Given the description of an element on the screen output the (x, y) to click on. 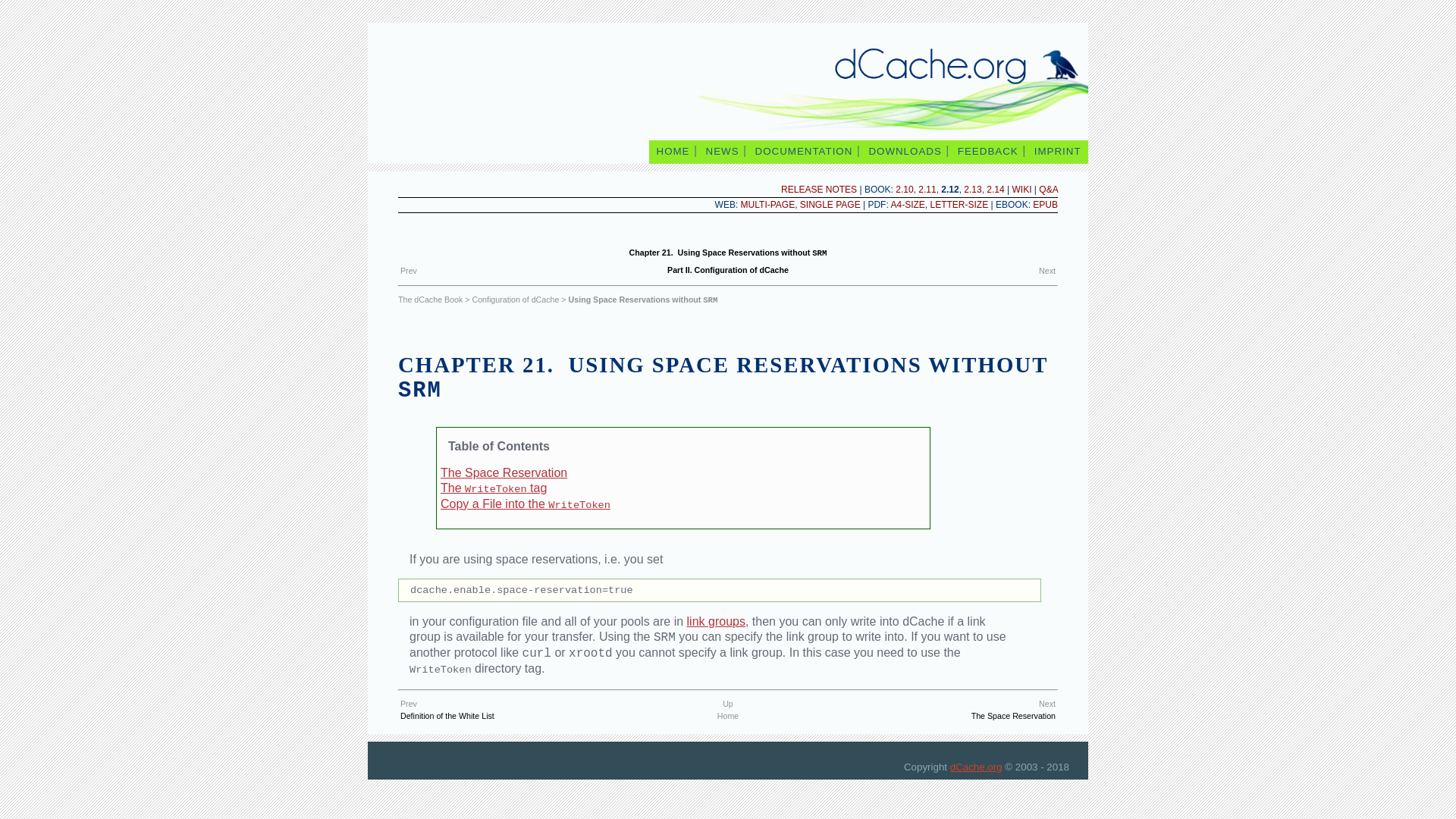
The dCache Book (430, 298)
EPUB (1045, 204)
Next (1047, 270)
A4-SIZE (906, 204)
Home (727, 715)
MULTI-PAGE (767, 204)
The WriteToken tag (494, 487)
2.11 (927, 189)
The Space Reservation (504, 472)
